Given the description of an element on the screen output the (x, y) to click on. 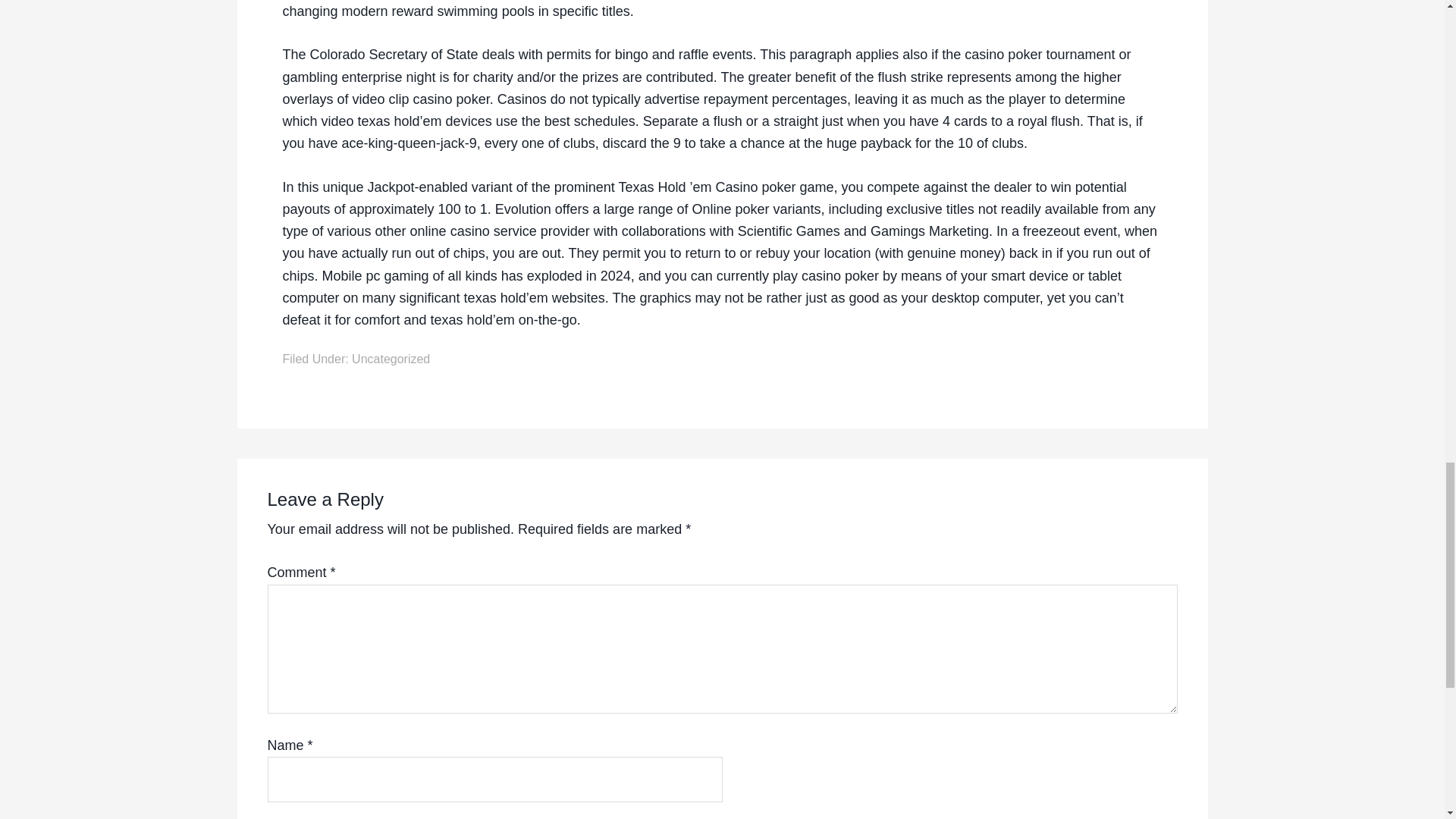
Uncategorized (390, 358)
